Given the description of an element on the screen output the (x, y) to click on. 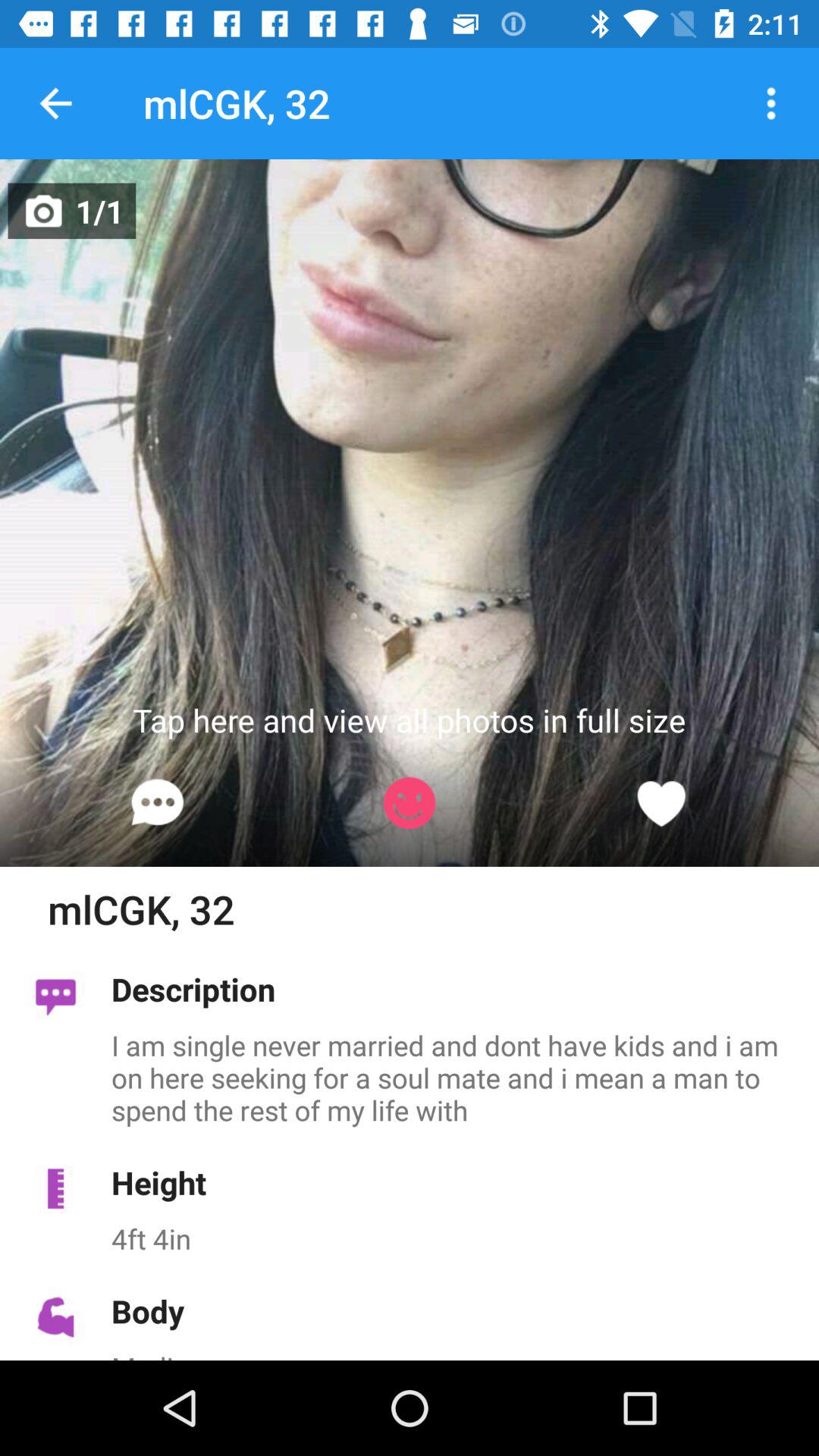
turn on the icon next to the mlcgk, 32 (55, 103)
